Given the description of an element on the screen output the (x, y) to click on. 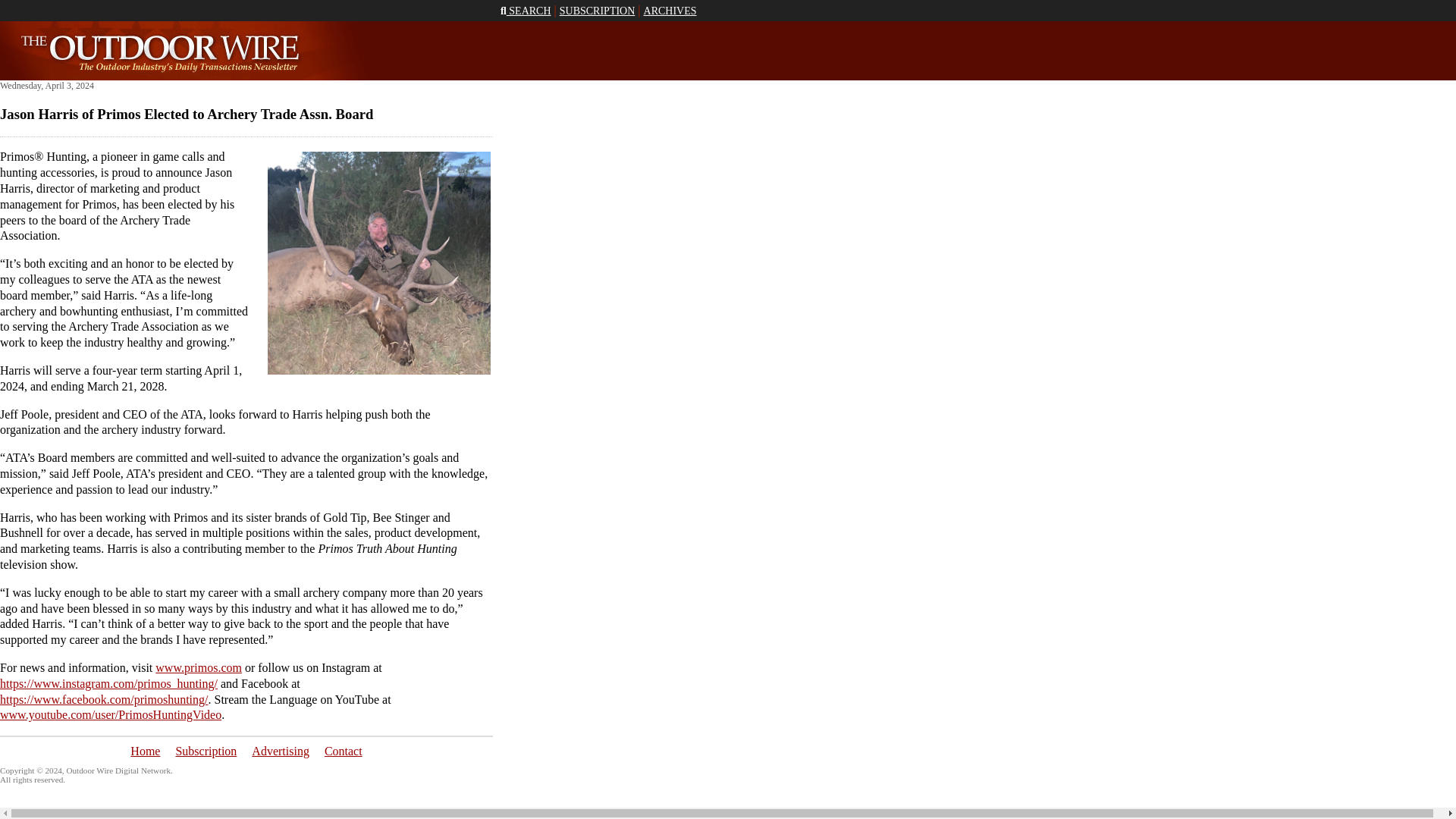
www.primos.com (198, 667)
Home (145, 750)
Subscription (204, 750)
ARCHIVES (670, 10)
SUBSCRIPTION (596, 10)
Contact (343, 750)
SEARCH (525, 10)
Advertising (279, 750)
